Given the description of an element on the screen output the (x, y) to click on. 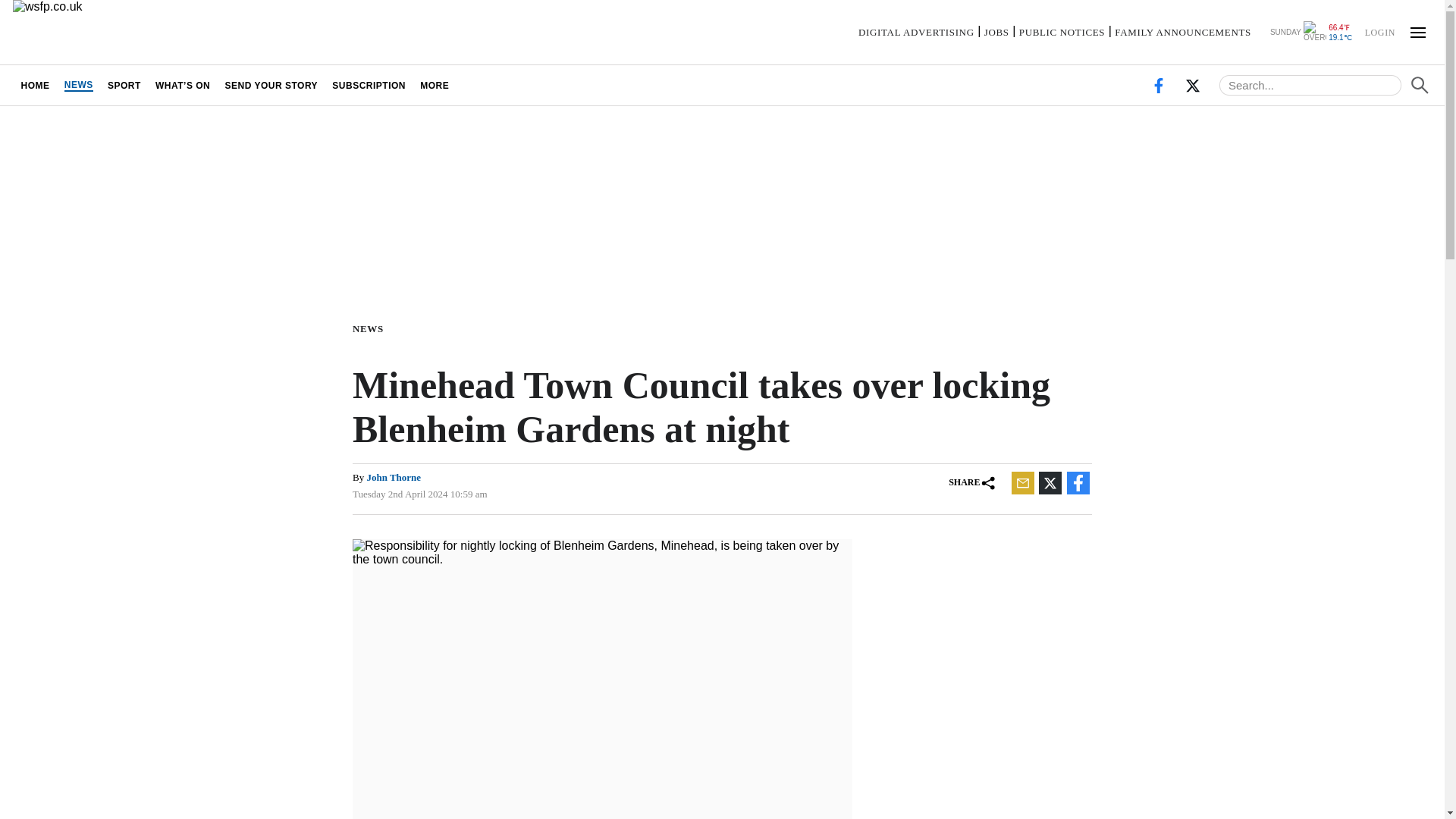
MORE (435, 85)
SEND YOUR STORY (270, 85)
HOME (34, 85)
FAMILY ANNOUNCEMENTS (1182, 32)
NEWS (78, 85)
LOGIN (1379, 31)
John Thorne (393, 477)
NEWS (371, 328)
SPORT (124, 85)
SUBSCRIPTION (368, 85)
